Given the description of an element on the screen output the (x, y) to click on. 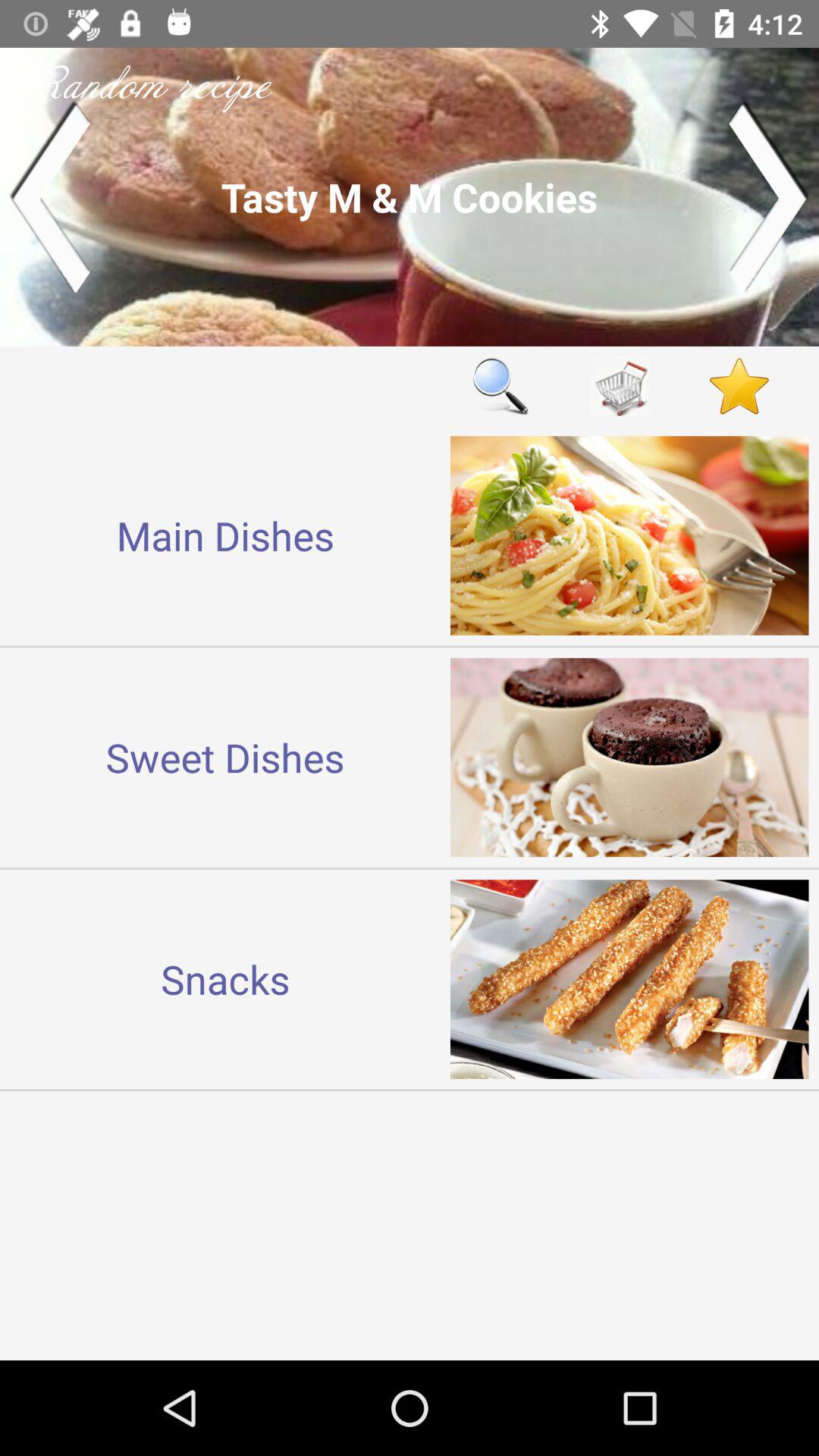
previous menu (49, 196)
